Given the description of an element on the screen output the (x, y) to click on. 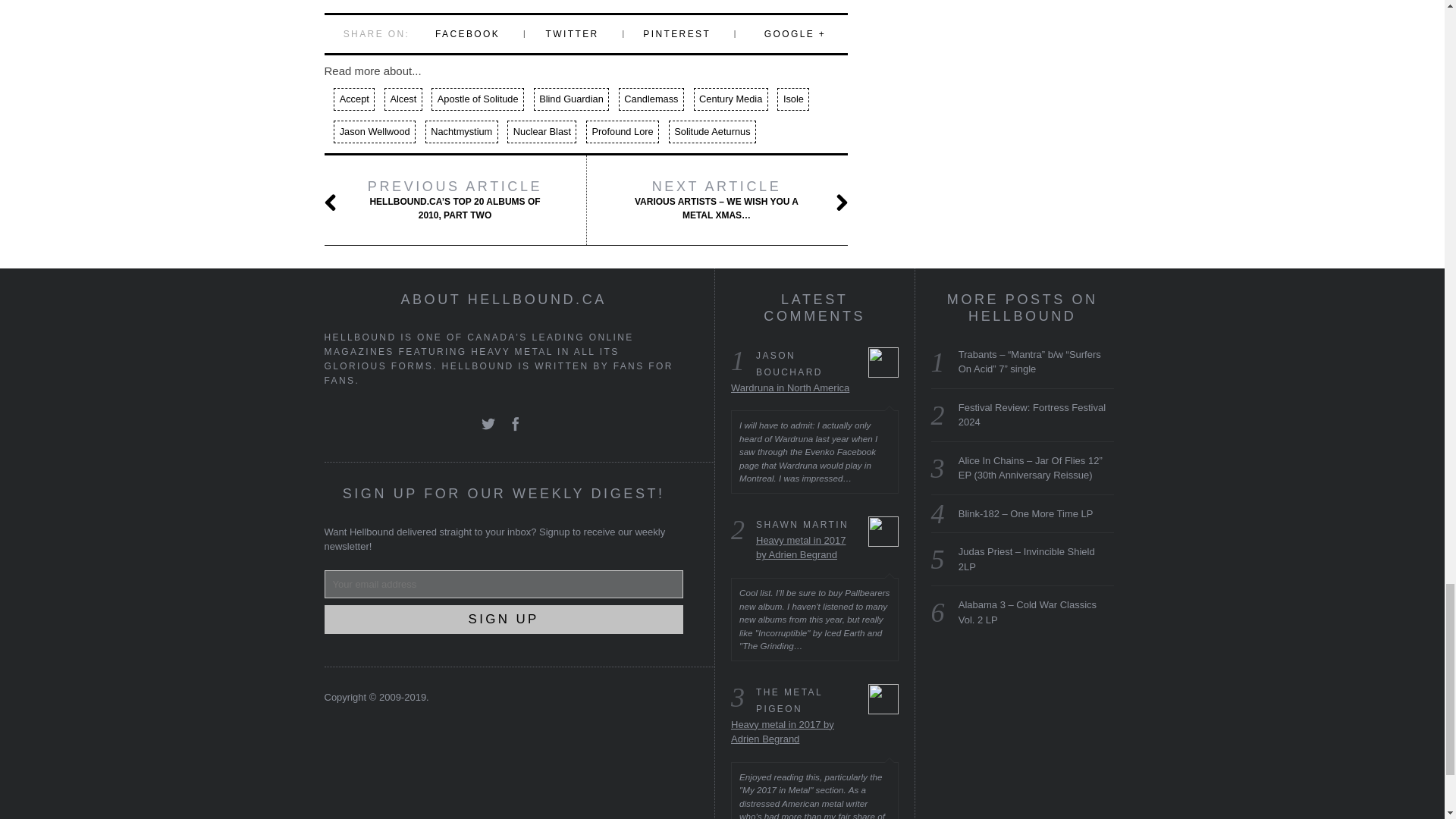
Sign up (503, 619)
